Given the description of an element on the screen output the (x, y) to click on. 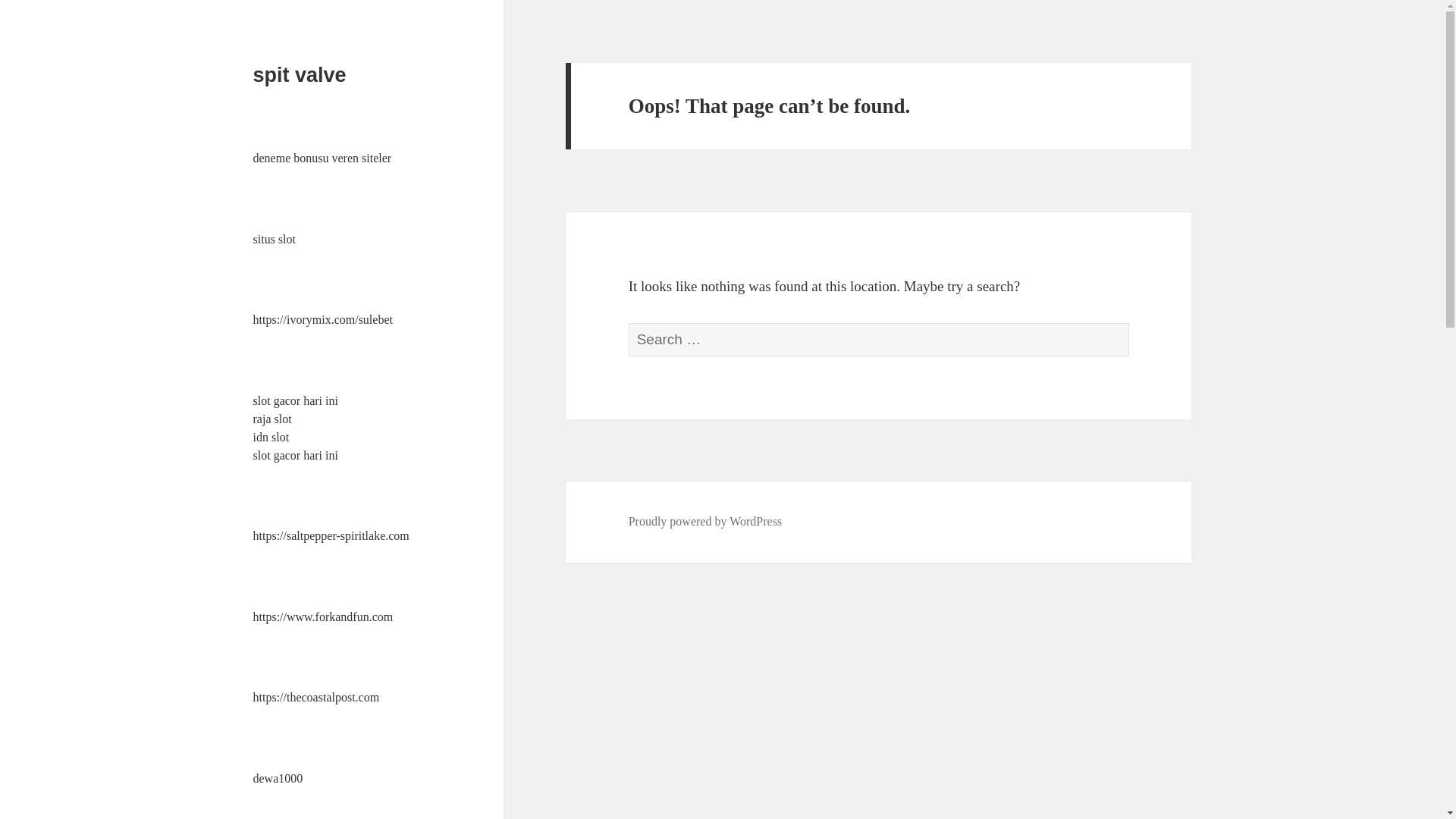
dewa1000 (277, 778)
idn slot (271, 436)
deneme bonusu veren siteler (322, 157)
slot gacor hari ini (295, 400)
Proudly powered by WordPress (704, 521)
situs slot (274, 238)
spit valve (299, 74)
raja slot (272, 418)
slot gacor hari ini (295, 454)
